Given the description of an element on the screen output the (x, y) to click on. 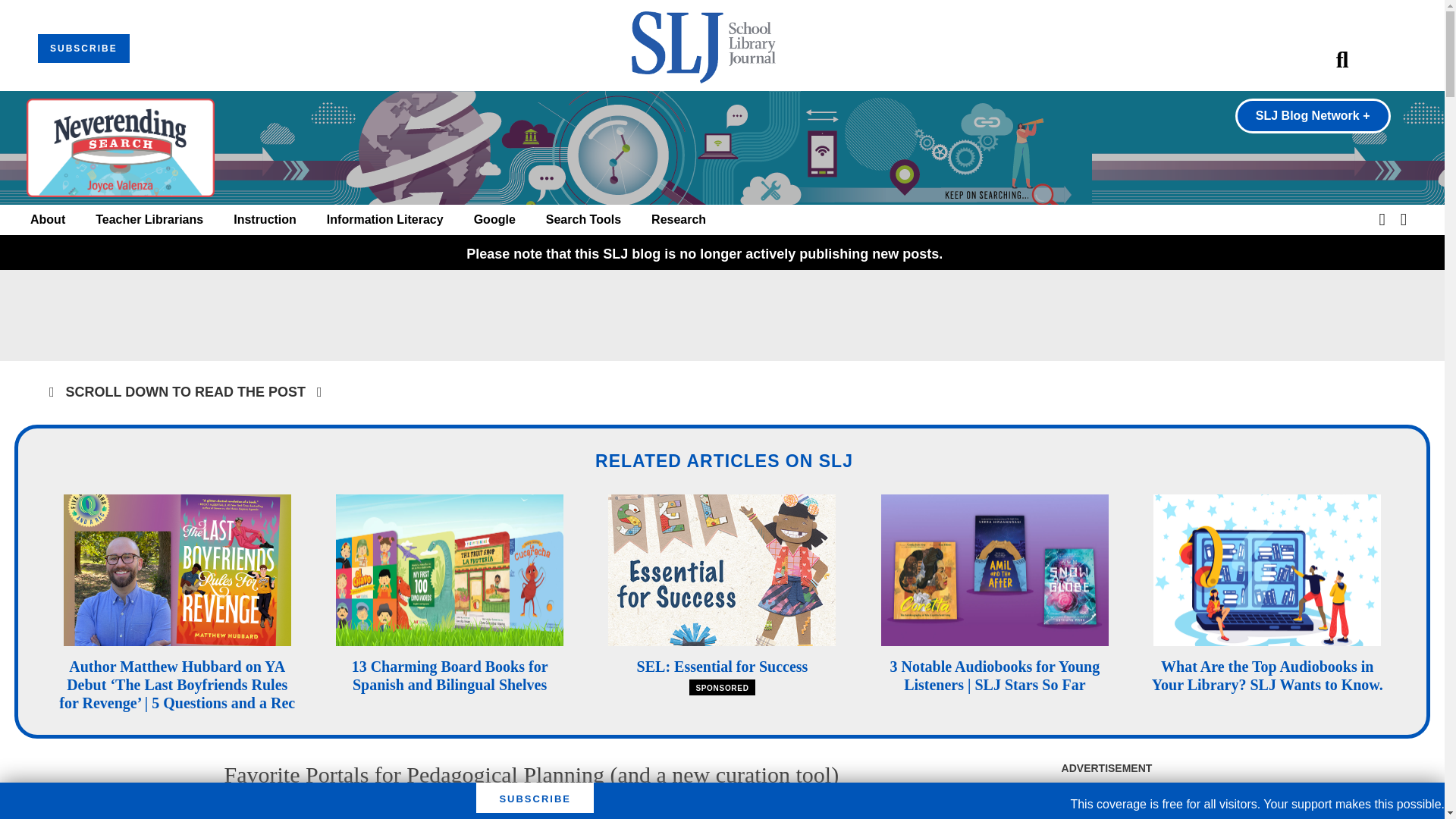
SEL: Essential for Success (722, 666)
13 Charming Board Books for Spanish and Bilingual Shelves (450, 675)
3rd party ad content (721, 315)
About (47, 219)
Teacher Librarians (149, 219)
Information Literacy (385, 219)
SUBSCRIBE (83, 48)
Google (494, 219)
Joyce Valenza (383, 810)
Instruction (264, 219)
Search Tools (583, 219)
Research (678, 219)
